Given the description of an element on the screen output the (x, y) to click on. 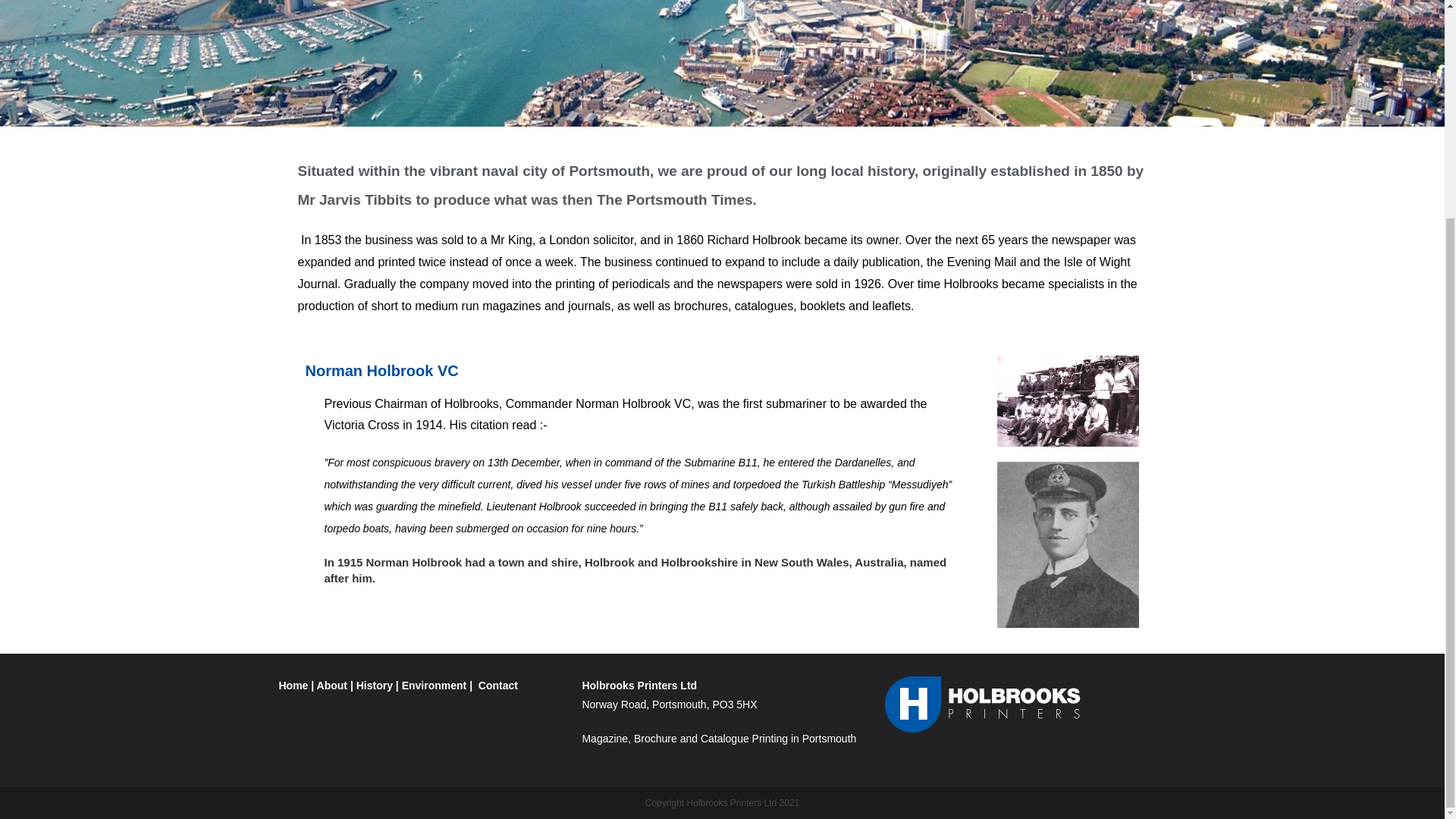
Home (293, 685)
About (332, 685)
Contact  (500, 685)
Environment (434, 685)
History (374, 685)
